Given the description of an element on the screen output the (x, y) to click on. 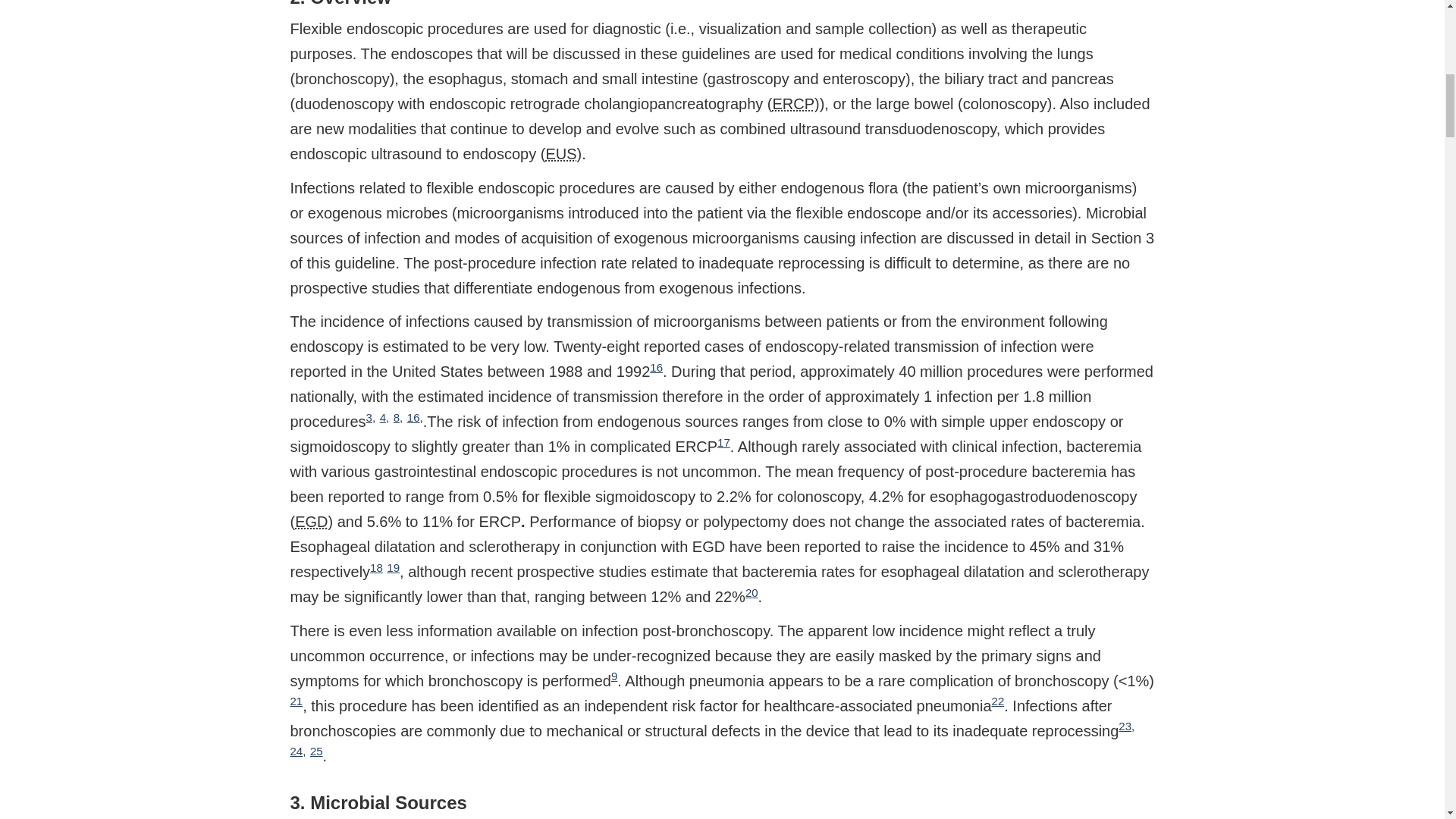
endoscopic retrograde cholangiopancreatography (792, 103)
endoscopic ultrasound to endoscopy (560, 153)
esophagogastroduodenoscopy (311, 521)
